Given the description of an element on the screen output the (x, y) to click on. 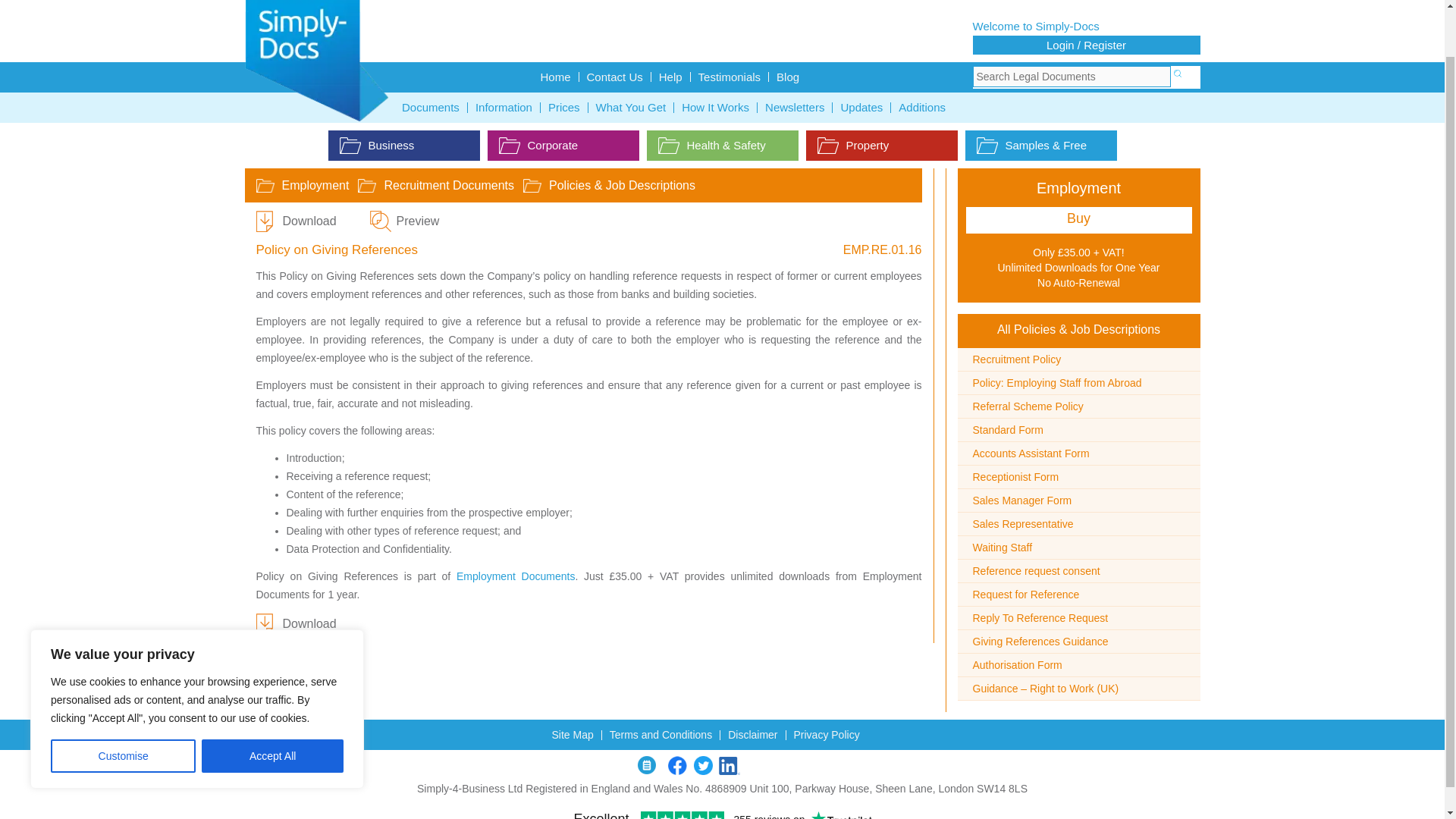
Customise (122, 704)
Help (670, 76)
Home (555, 76)
Contact Us (614, 76)
Testimonials (730, 76)
Accept All (272, 704)
Blog (787, 76)
